Given the description of an element on the screen output the (x, y) to click on. 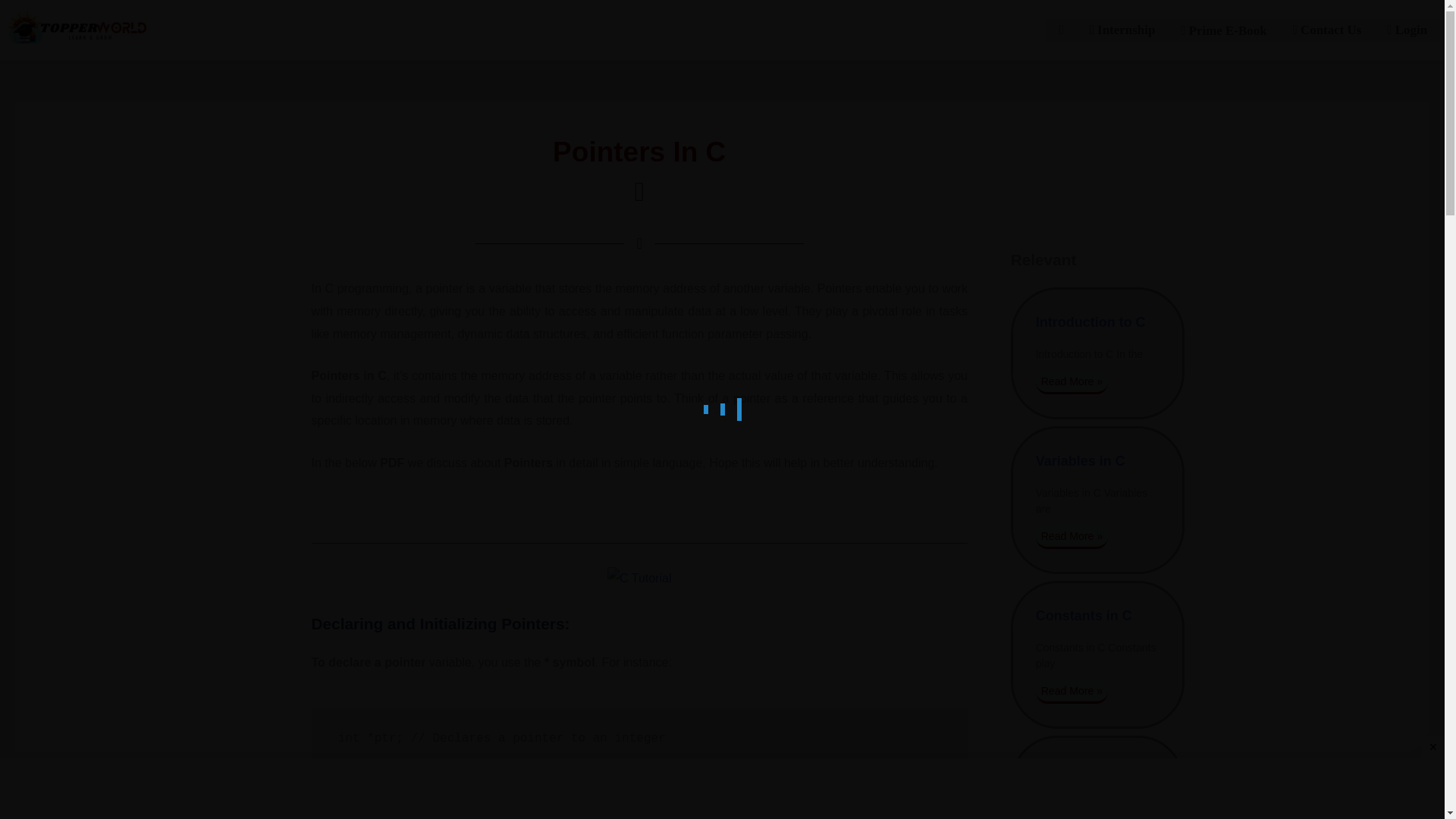
Comments and Tokens in C (1084, 780)
Internship (1123, 30)
Prime E-Book (1223, 30)
C Programming (639, 578)
Introduction to C (1090, 322)
Constants in C (1083, 615)
Variables in C (1080, 460)
Contact Us (1326, 30)
Login (1406, 30)
